Given the description of an element on the screen output the (x, y) to click on. 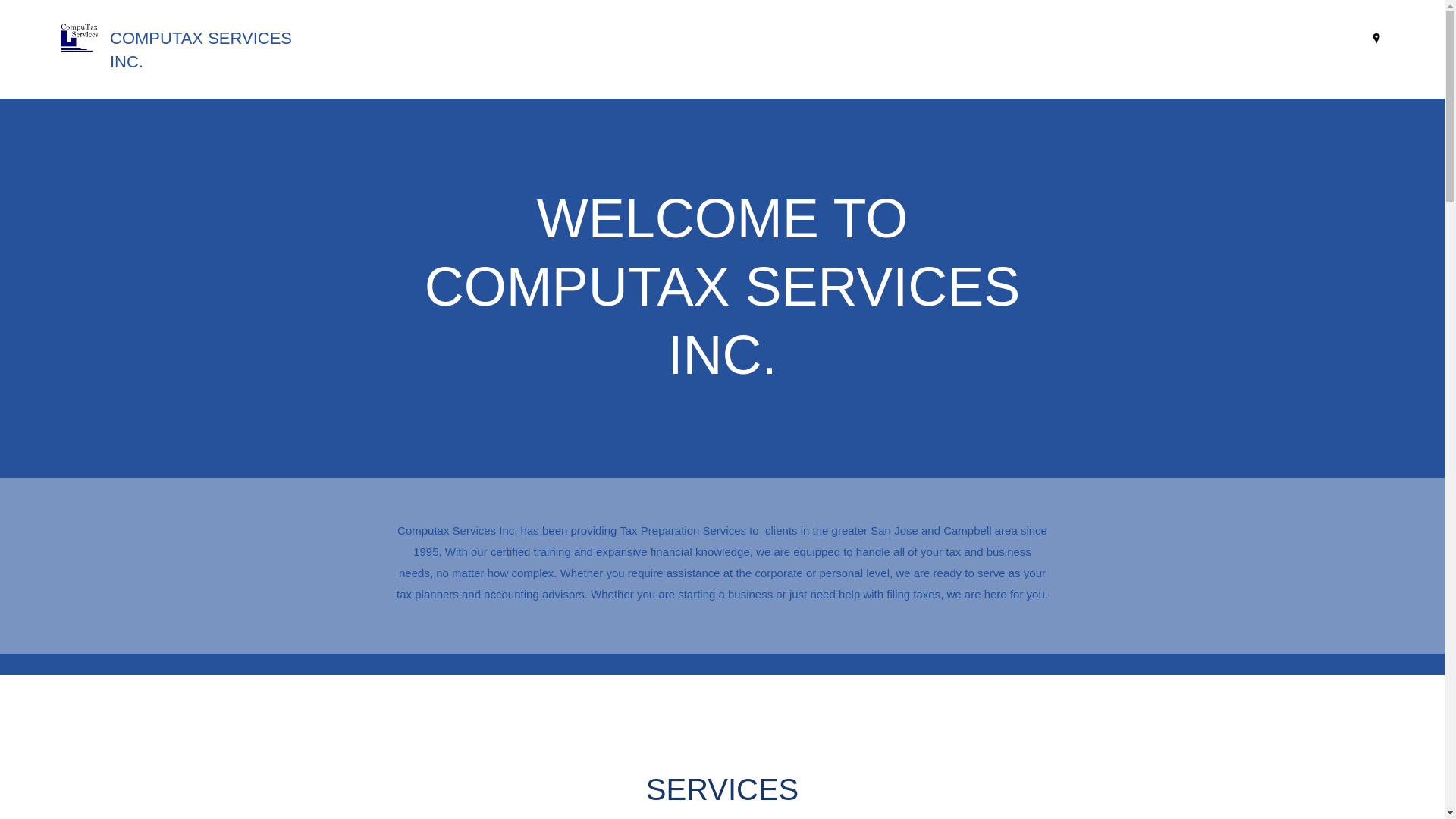
COMPUTAX SERVICES INC. (201, 49)
